Given the description of an element on the screen output the (x, y) to click on. 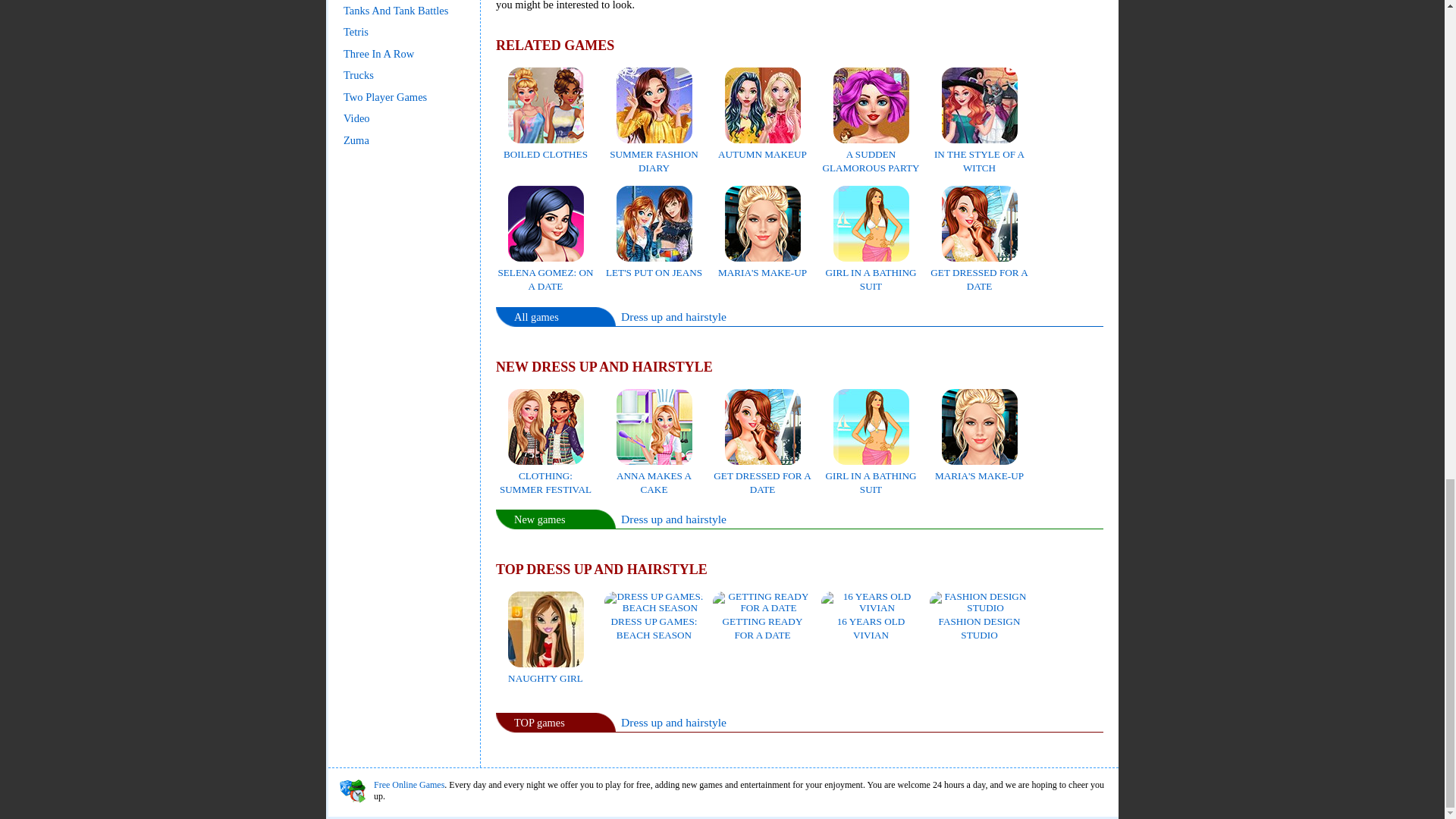
LET'S PUT ON JEANS (653, 265)
All games (536, 316)
MARIA'S MAKE-UP (978, 468)
IN THE STYLE OF A WITCH (979, 154)
FASHION DESIGN STUDIO (979, 620)
AUTUMN MAKEUP (761, 147)
DRESS UP GAMES: BEACH SEASON (653, 620)
16 YEARS OLD VIVIAN (870, 620)
GIRL IN A BATHING SUIT (870, 475)
CLOTHING: SUMMER FESTIVAL (545, 475)
